Given the description of an element on the screen output the (x, y) to click on. 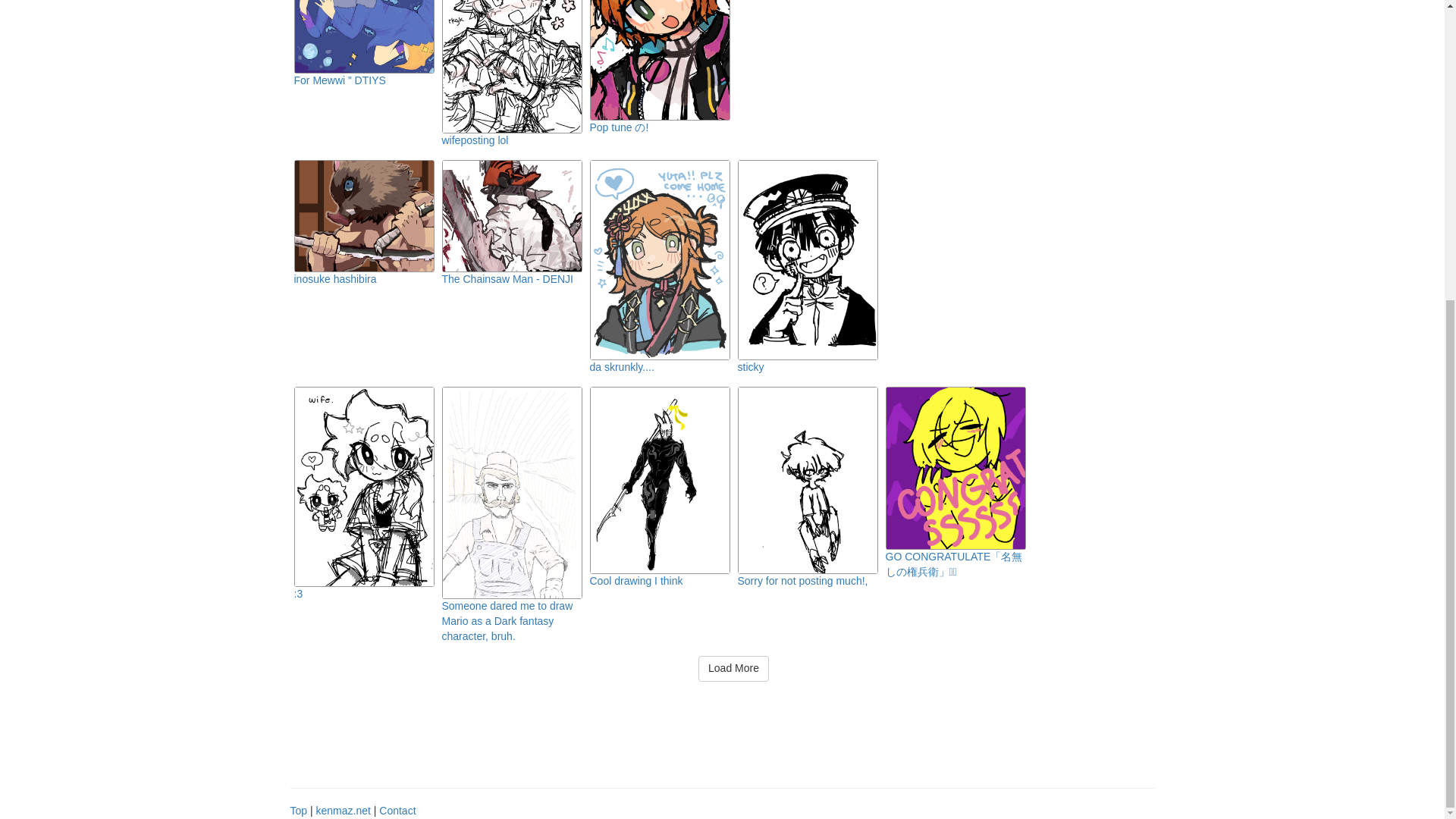
da skrunkly.... (621, 367)
Sorry for not posting much!, (801, 580)
inosuke hashibira (335, 278)
wifeposting lol (474, 140)
The Chainsaw Man - DENJI (507, 278)
Cool drawing I think (635, 580)
sticky (749, 367)
